Given the description of an element on the screen output the (x, y) to click on. 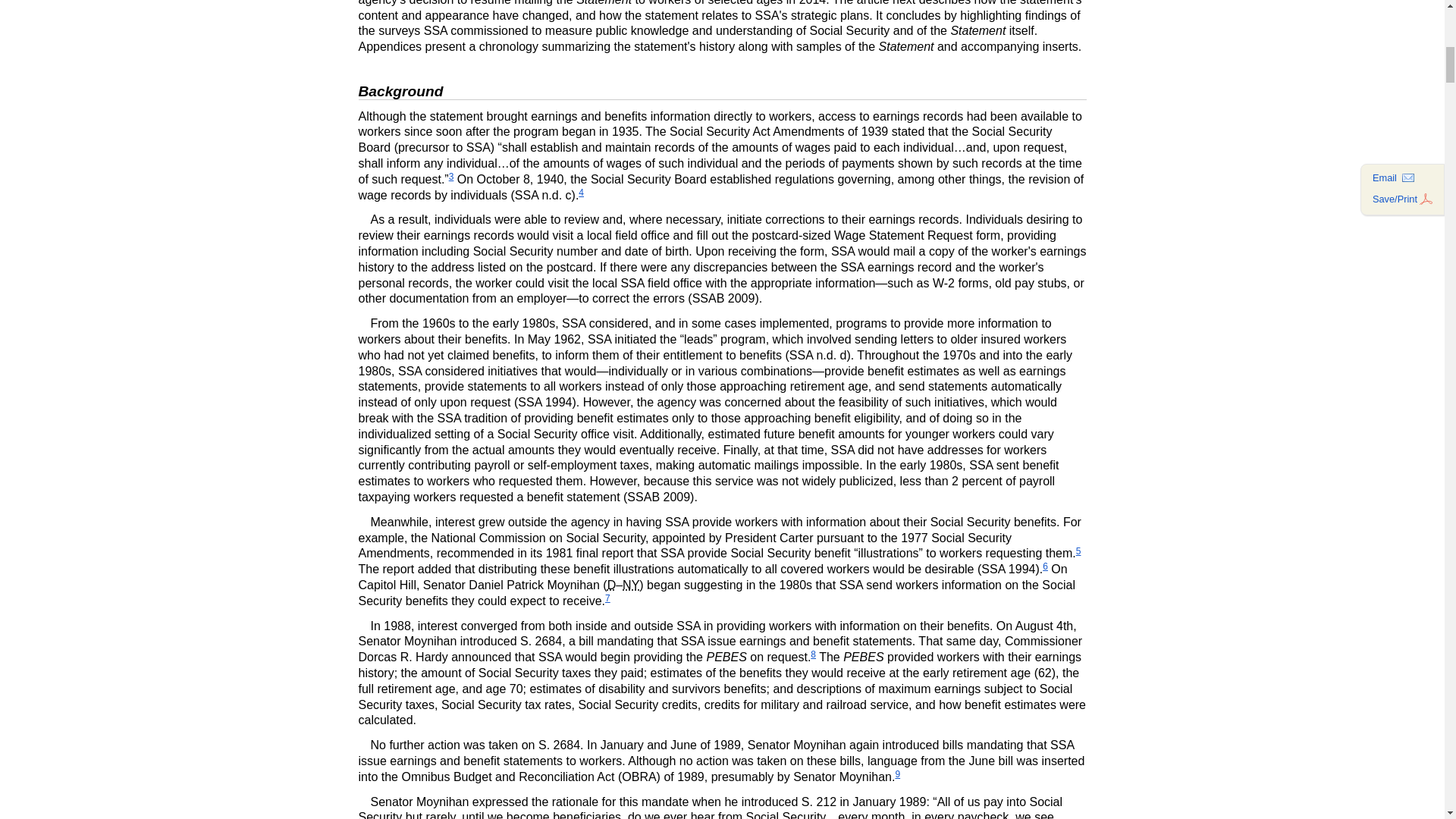
New York (631, 584)
